Given the description of an element on the screen output the (x, y) to click on. 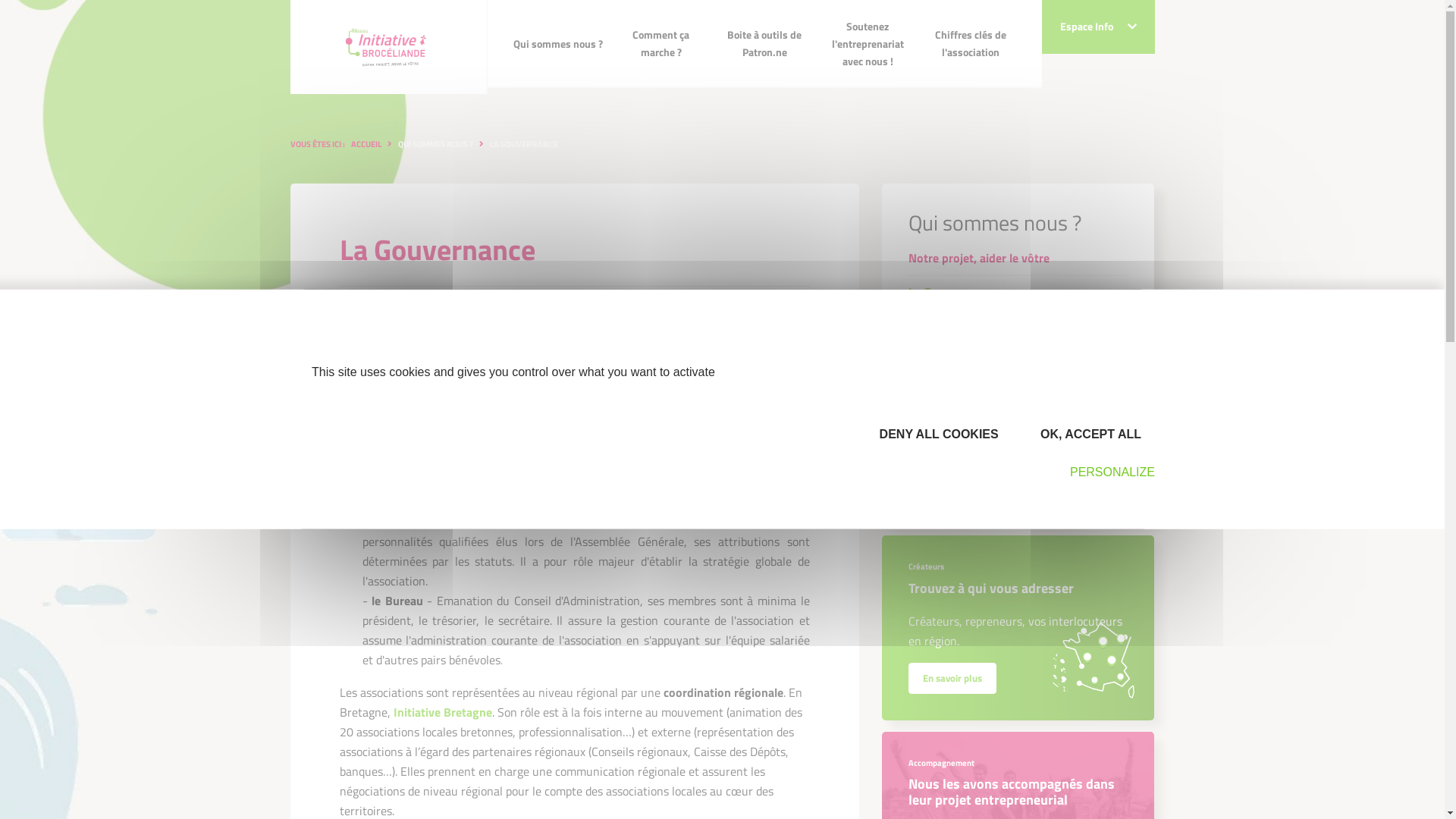
Initiative Bretagne Element type: text (441, 711)
En savoir plus Element type: text (952, 677)
QUI SOMMES NOUS ? Element type: text (434, 144)
Qui sommes nous ? Element type: text (557, 44)
Cliquez ici Element type: text (1065, 489)
En savoir plus Element type: text (952, 676)
PERSONALIZE Element type: text (1105, 472)
La Gouvernance Element type: text (1018, 292)
ACCUEIL Element type: text (365, 144)
Soutenez l'entreprenariat avec nous ! Element type: text (867, 43)
OK, ACCEPT ALL Element type: text (1086, 434)
Nos partenaires Element type: text (1018, 394)
L'Equipe Element type: text (1018, 360)
Cliquez ici Element type: text (1065, 488)
LA GOUVERNANCE Element type: text (523, 144)
Espace Info Element type: text (1097, 26)
DENY ALL COOKIES Element type: text (934, 434)
